Given the description of an element on the screen output the (x, y) to click on. 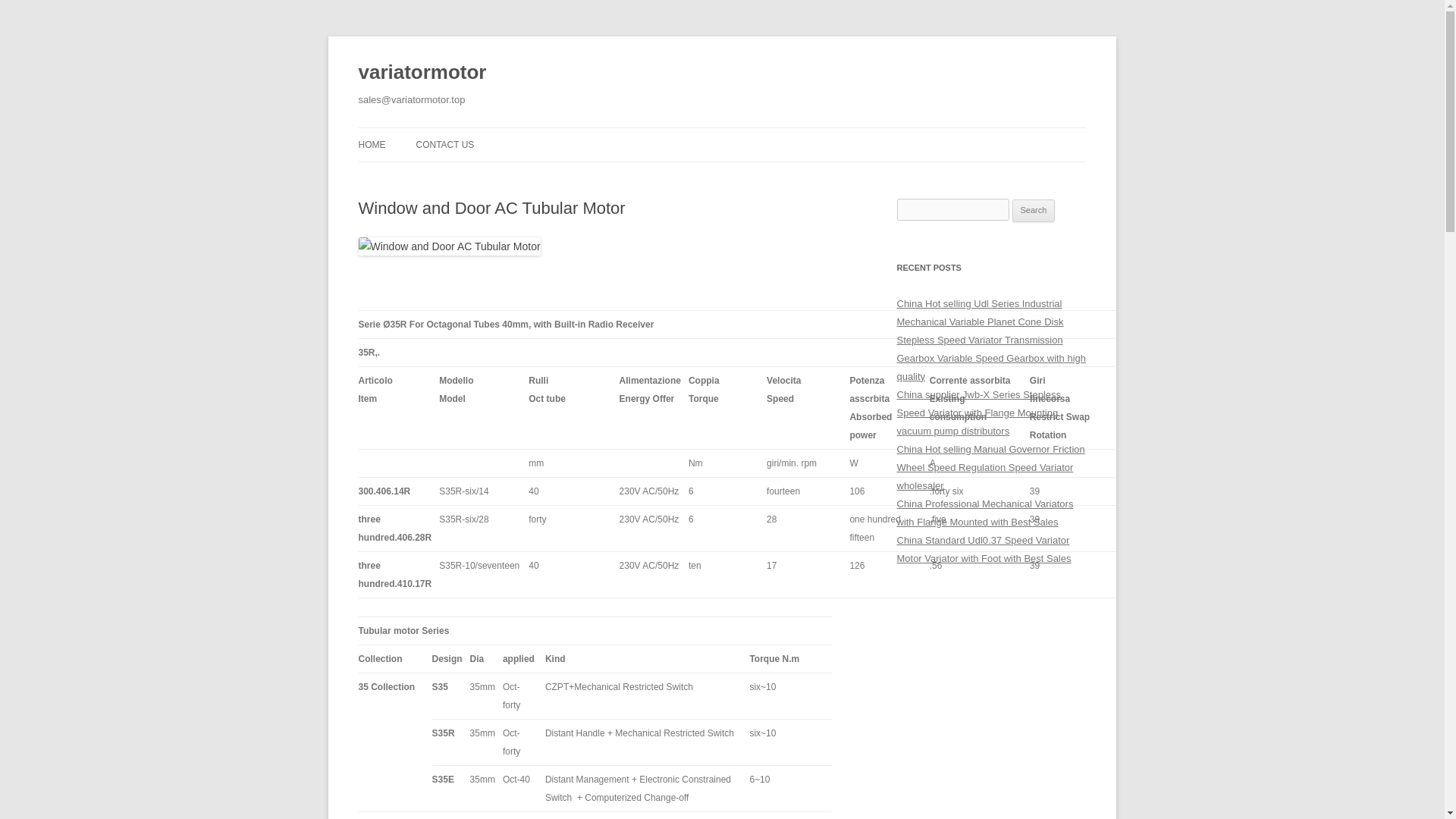
variatormotor (422, 72)
CONTACT US (444, 144)
Window and Door AC Tubular Motor (449, 246)
variatormotor (422, 72)
